Given the description of an element on the screen output the (x, y) to click on. 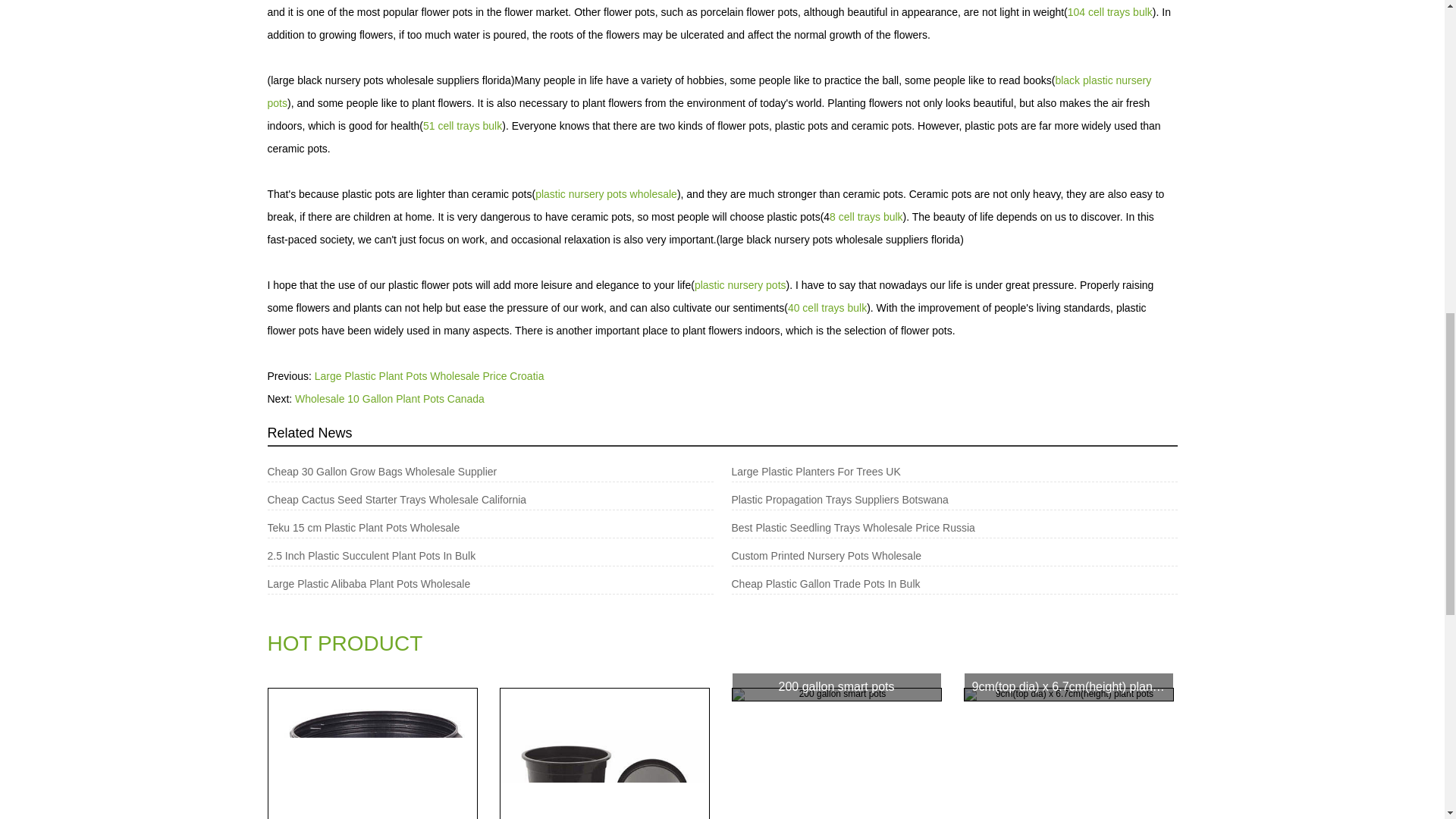
Large Plastic Alibaba Plant Pots Wholesale (467, 583)
Best Plastic Seedling Trays Wholesale Price Russia (931, 527)
plastic plant pots (721, 648)
Large Plastic Planters For Trees UK (931, 471)
Plastic 7 gallon pots with handles (372, 753)
Cheap Cactus Seed Starter Trays Wholesale California (467, 499)
Plastic injection 1.5 gallon pot (604, 753)
2.5 Inch Plastic Succulent Plant Pots In Bulk (467, 555)
Teku 15 cm Plastic Plant Pots Wholesale (467, 527)
Custom Printed Nursery Pots Wholesale (931, 555)
